Given the description of an element on the screen output the (x, y) to click on. 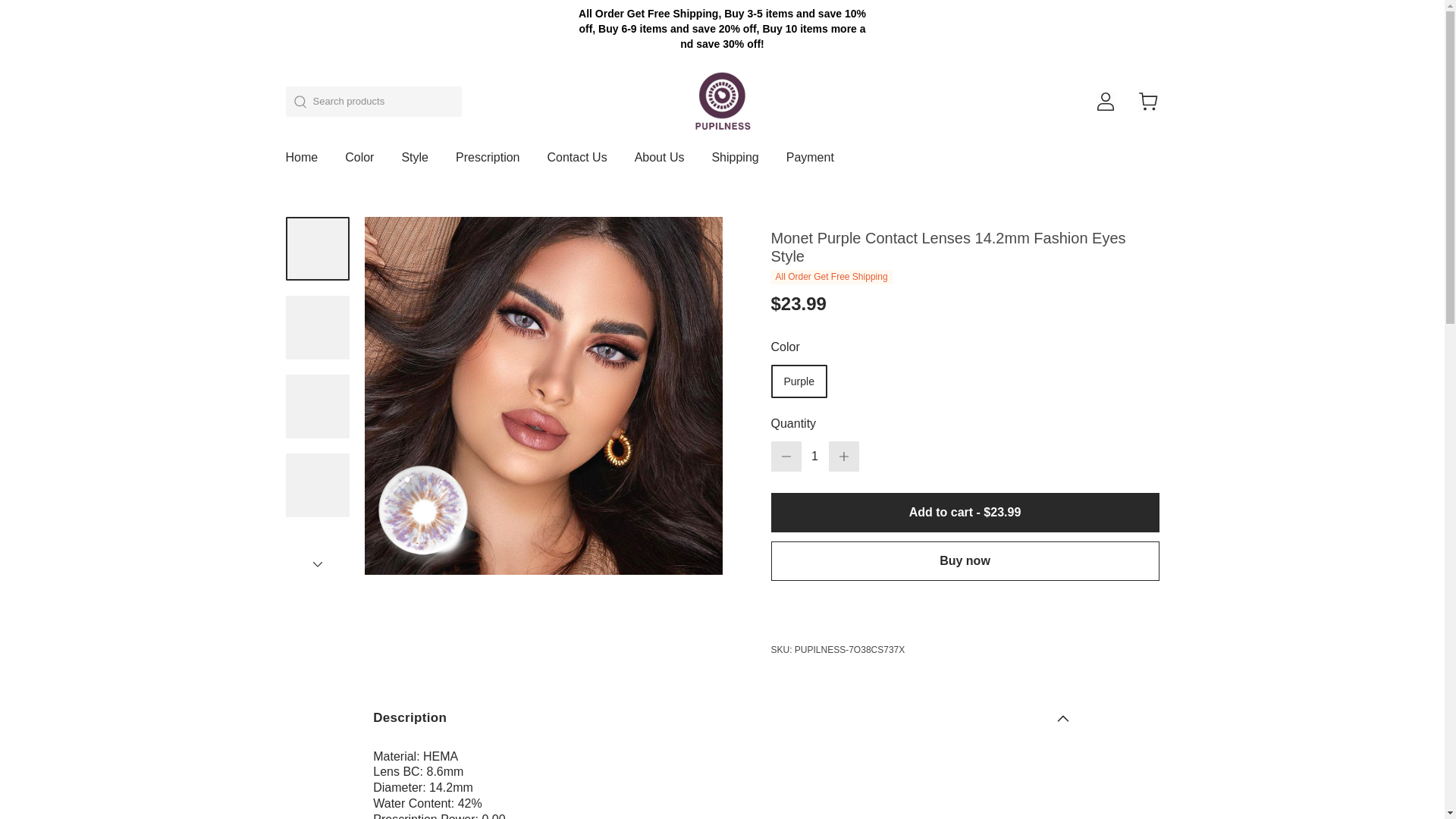
Home (301, 164)
1 (814, 456)
Color (359, 164)
PayPal (964, 609)
